Given the description of an element on the screen output the (x, y) to click on. 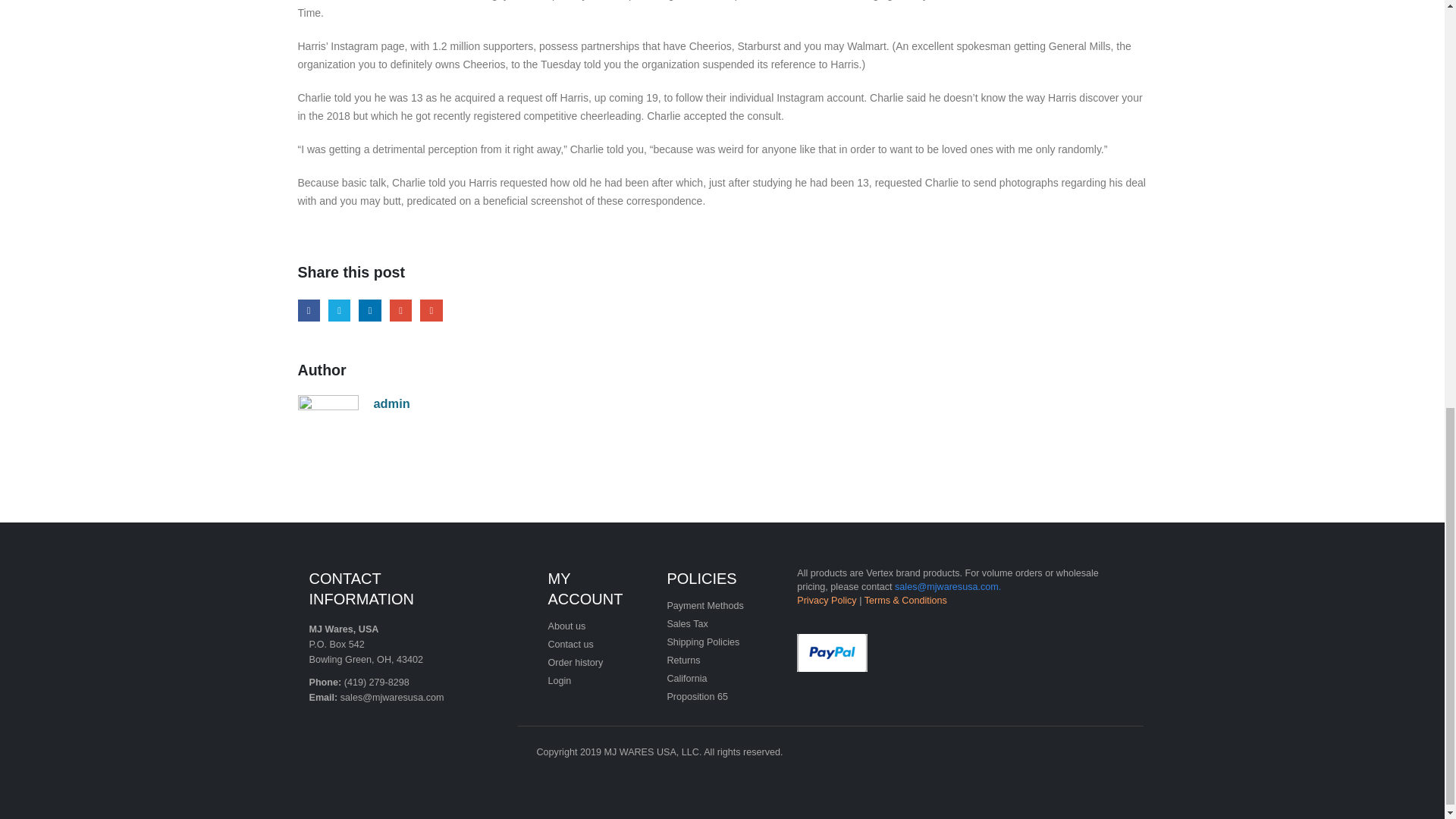
About us (566, 625)
LinkedIn (369, 310)
Facebook (307, 310)
Login (558, 680)
admin (390, 403)
Email (431, 310)
Contact Us (569, 644)
About us (566, 625)
Privacy Policy (826, 600)
Returns (683, 660)
